Given the description of an element on the screen output the (x, y) to click on. 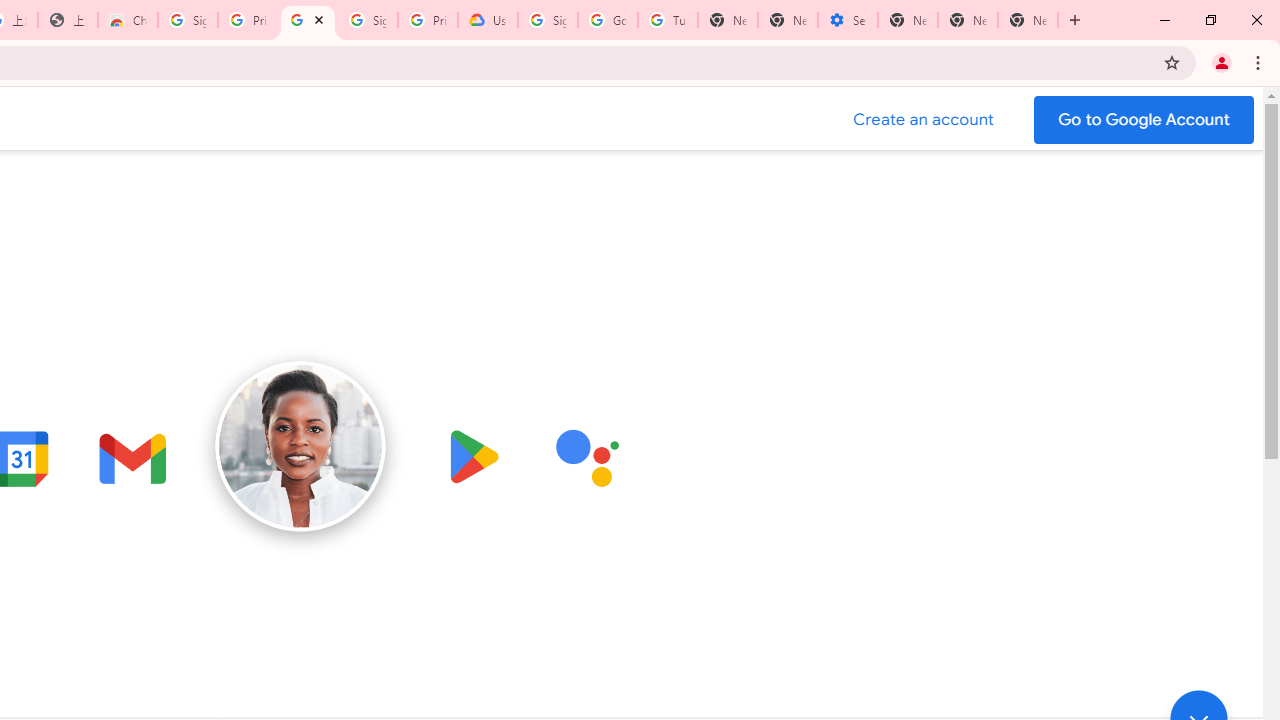
New Tab (1028, 20)
Google Account Help (607, 20)
Create a Google Account (923, 119)
Go to your Google Account (1144, 119)
Turn cookies on or off - Computer - Google Account Help (667, 20)
New Tab (727, 20)
